Given the description of an element on the screen output the (x, y) to click on. 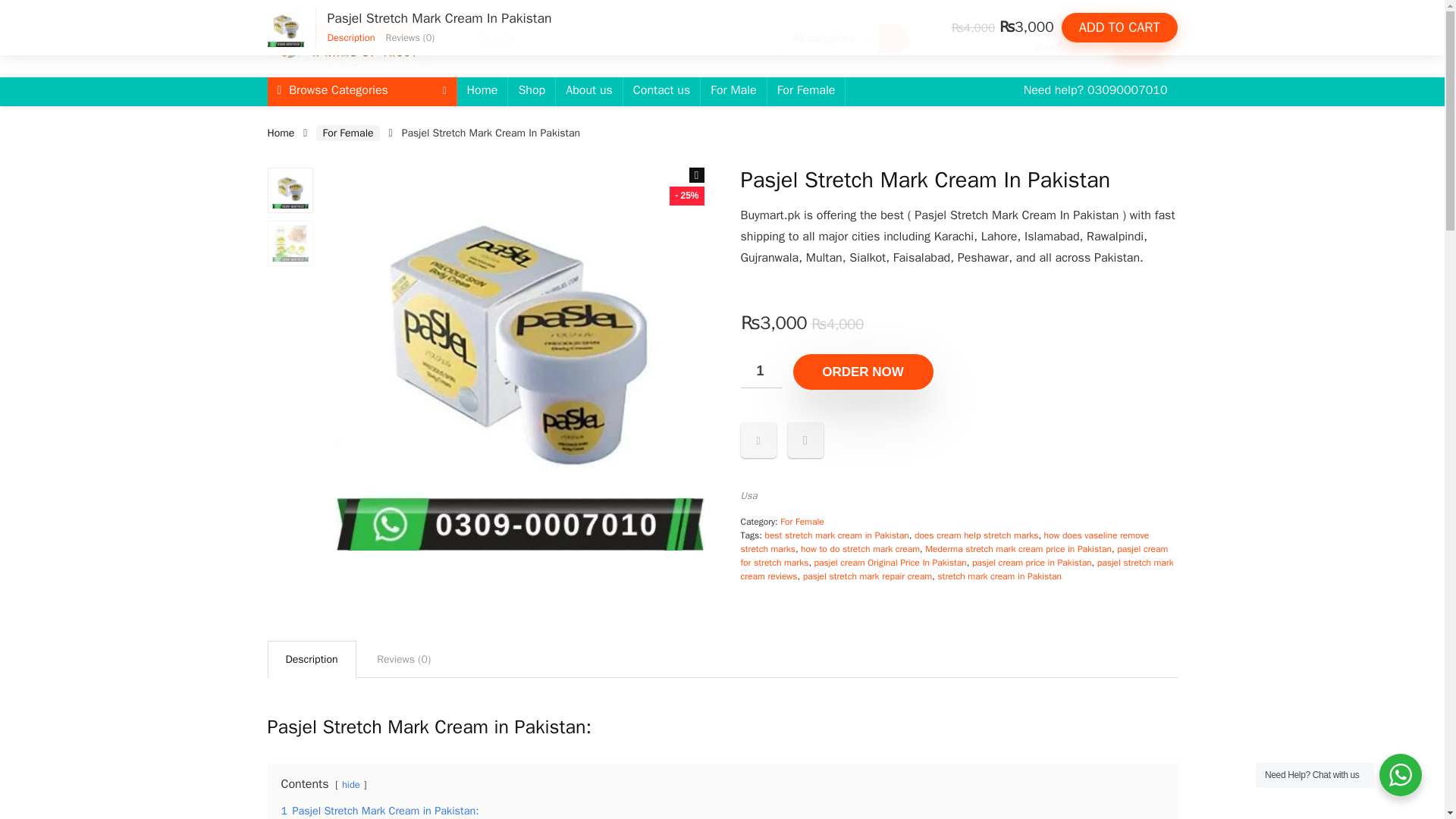
Home (481, 91)
does cream help stretch marks (976, 535)
For Female (346, 132)
Mederma stretch mark cream price in Pakistan (1018, 548)
Shop (531, 91)
Usa (748, 495)
ORDER NOW (863, 371)
For Male (732, 91)
best stretch mark cream in Pakistan (836, 535)
how to do stretch mark cream (860, 548)
Browse Categories (360, 91)
Home (280, 132)
Need help? 03090007010 (1095, 91)
About us (589, 91)
